Given the description of an element on the screen output the (x, y) to click on. 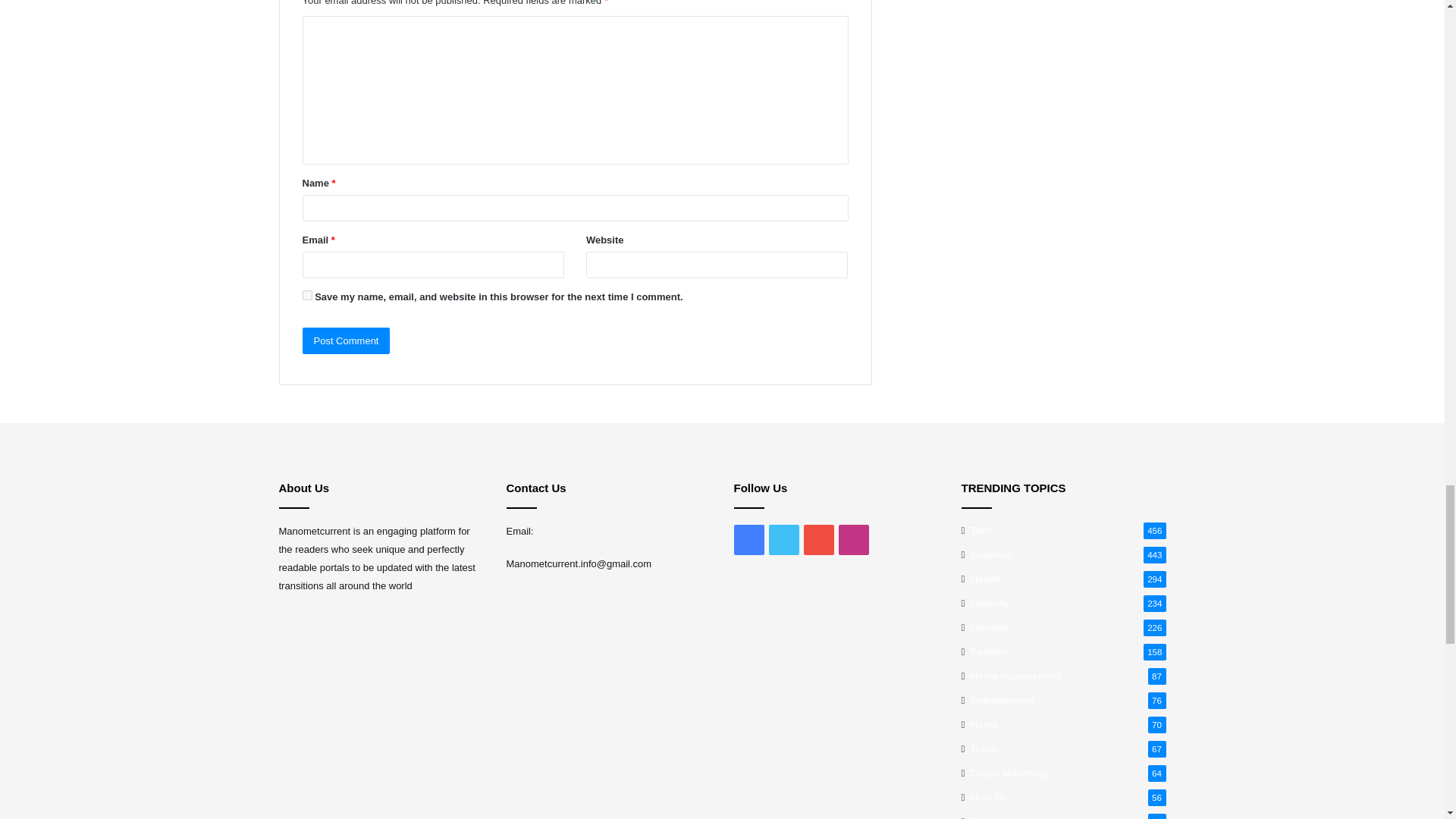
Post Comment (345, 340)
Post Comment (345, 340)
yes (306, 295)
